Given the description of an element on the screen output the (x, y) to click on. 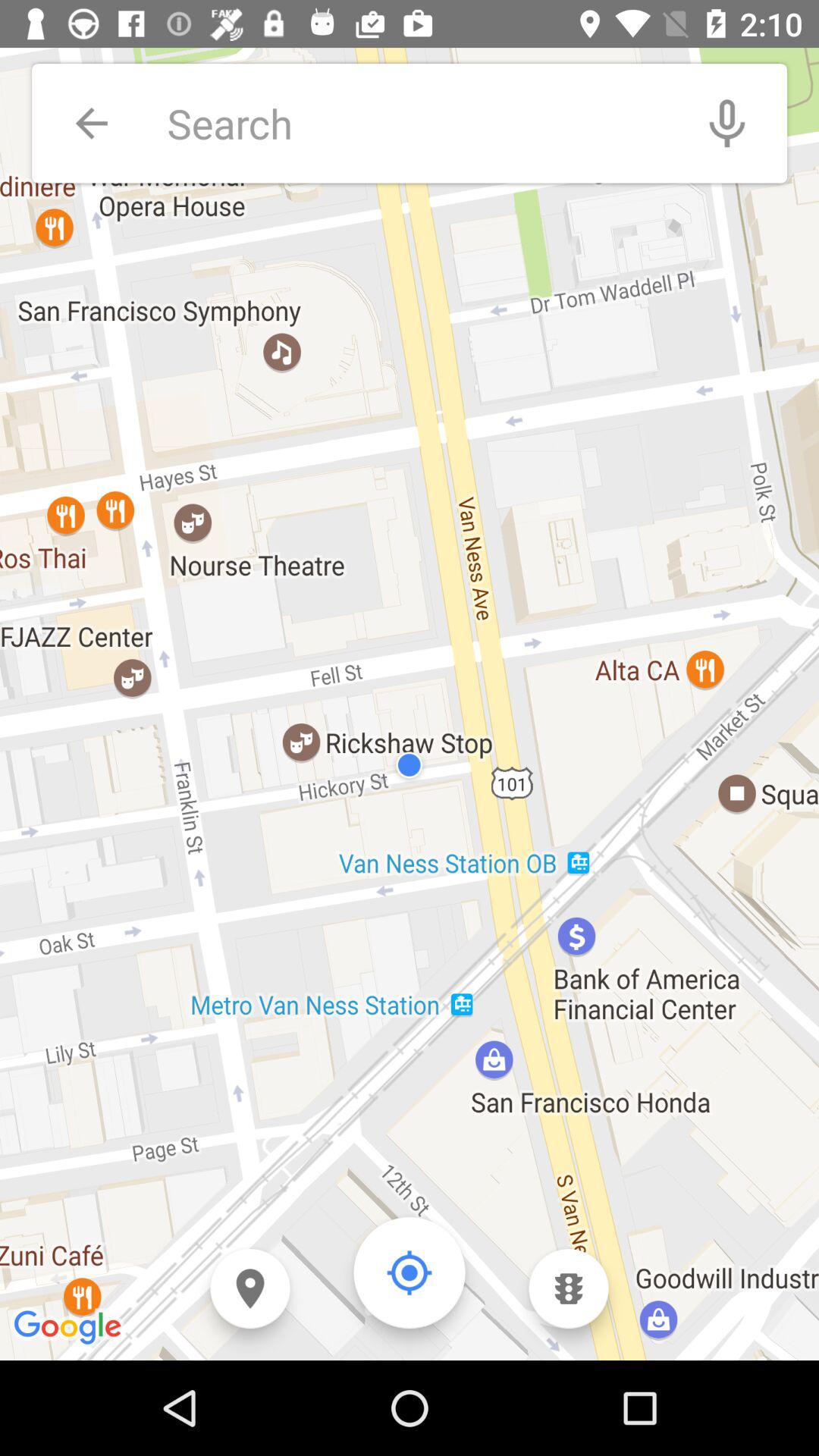
pin a point on map (250, 1288)
